Given the description of an element on the screen output the (x, y) to click on. 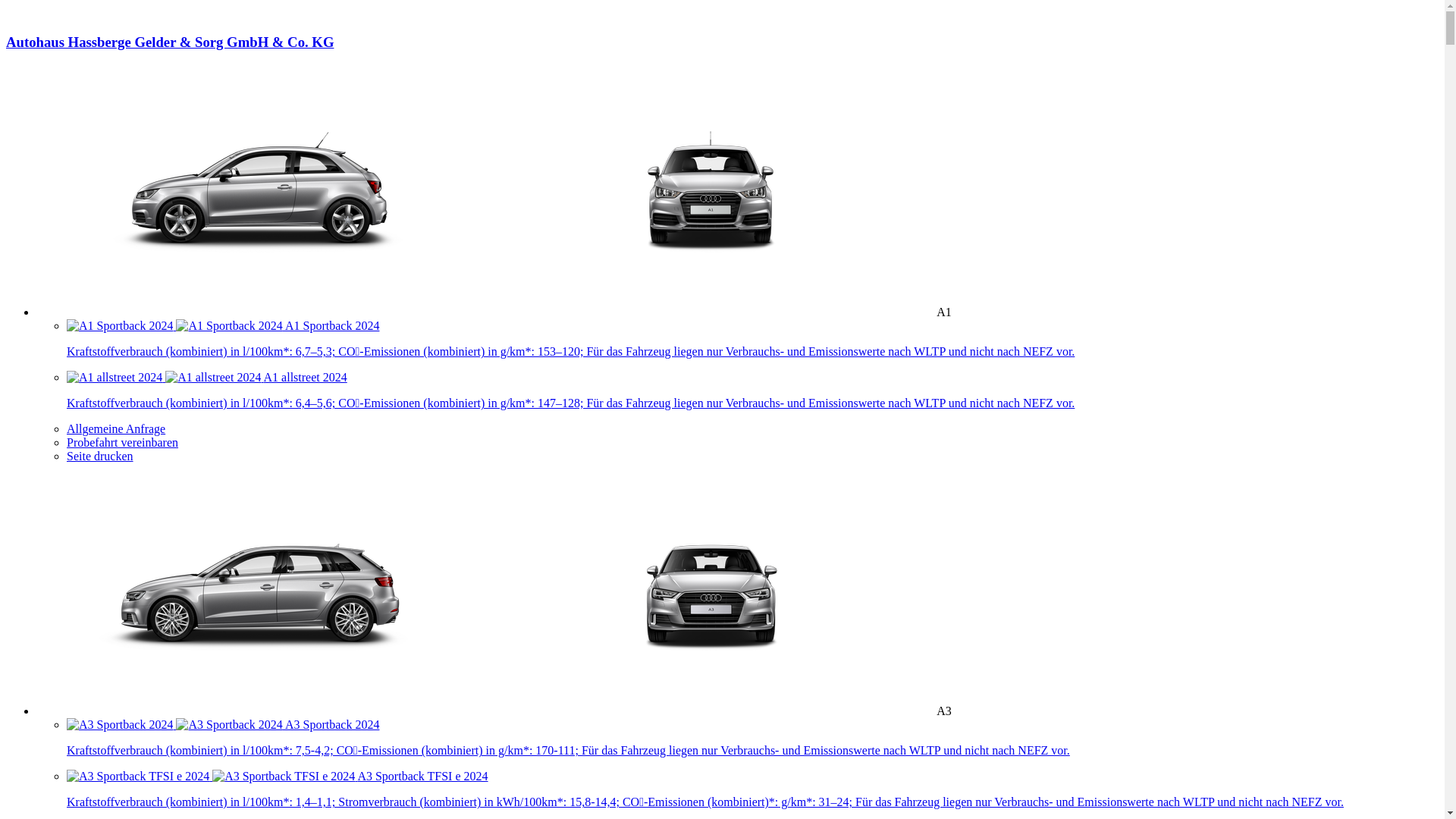
Autohaus Hassberge Gelder & Sorg GmbH & Co. KG Element type: text (722, 56)
Seite drucken Element type: text (99, 455)
Probefahrt vereinbaren Element type: text (122, 442)
A1 Element type: text (493, 311)
A3 Element type: text (493, 710)
Allgemeine Anfrage Element type: text (115, 428)
